Given the description of an element on the screen output the (x, y) to click on. 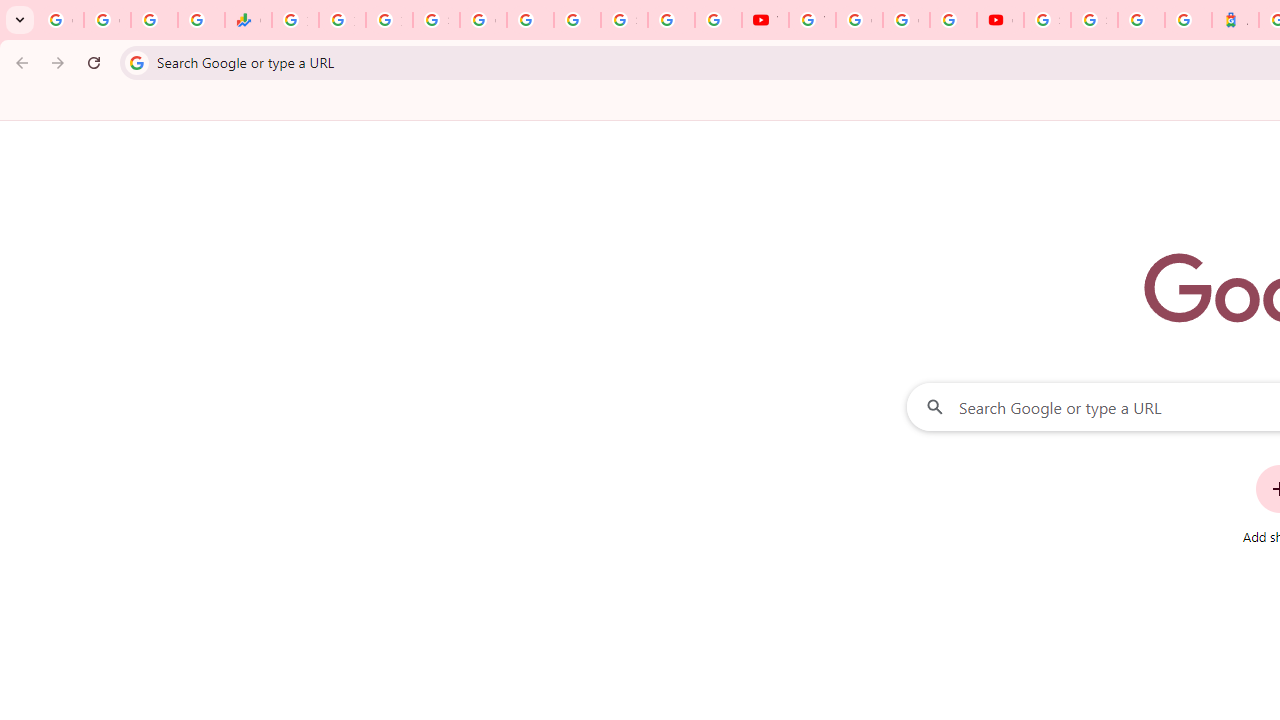
Sign in - Google Accounts (1094, 20)
Sign in - Google Accounts (1047, 20)
Content Creator Programs & Opportunities - YouTube Creators (999, 20)
Google Workspace Admin Community (60, 20)
YouTube (765, 20)
